Given the description of an element on the screen output the (x, y) to click on. 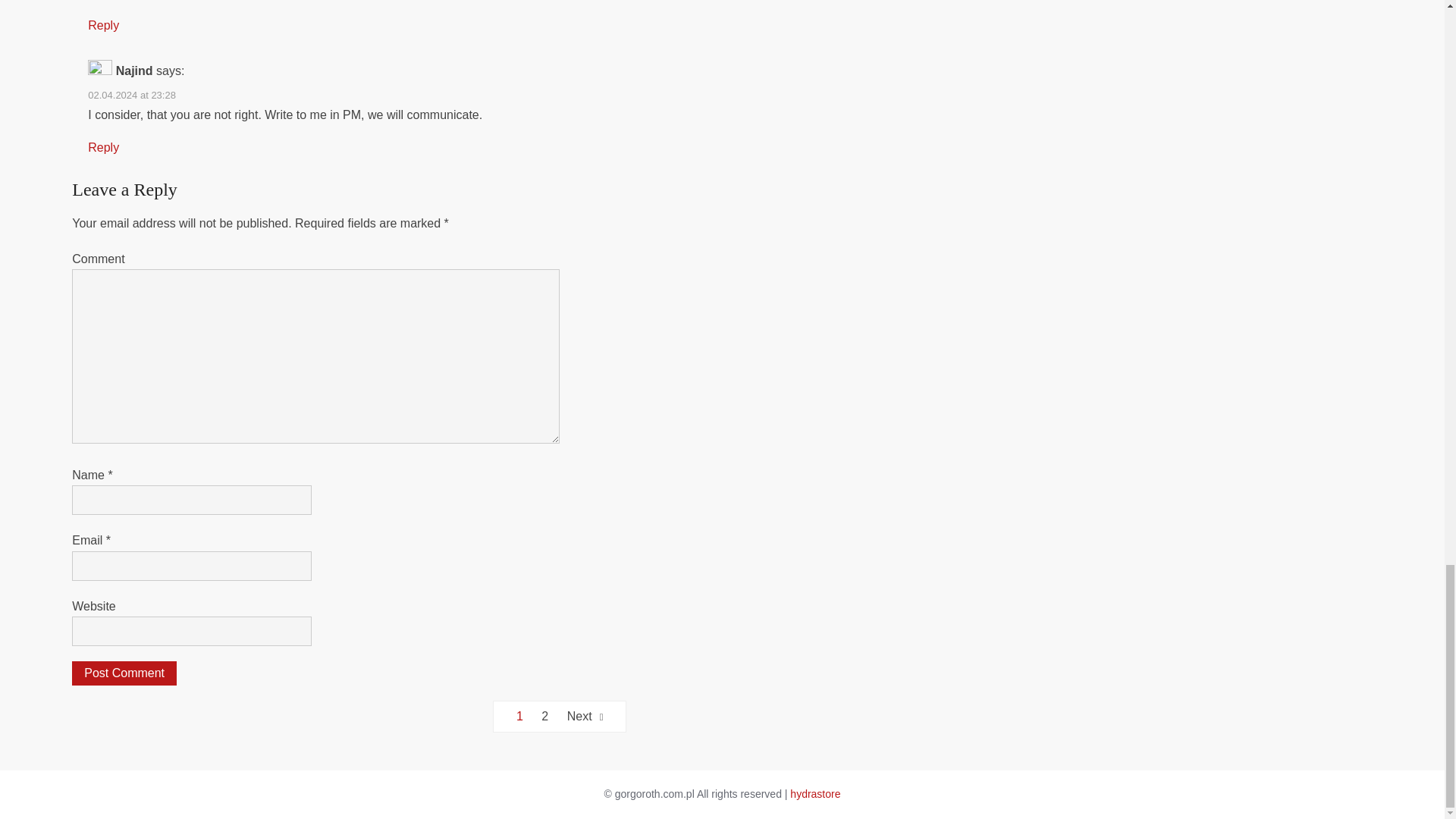
Reply (103, 146)
Reply (103, 24)
Post Comment (123, 672)
hydrastore (815, 793)
02.04.2024 at 23:28 (131, 94)
Next (585, 716)
Post Comment (123, 672)
